Given the description of an element on the screen output the (x, y) to click on. 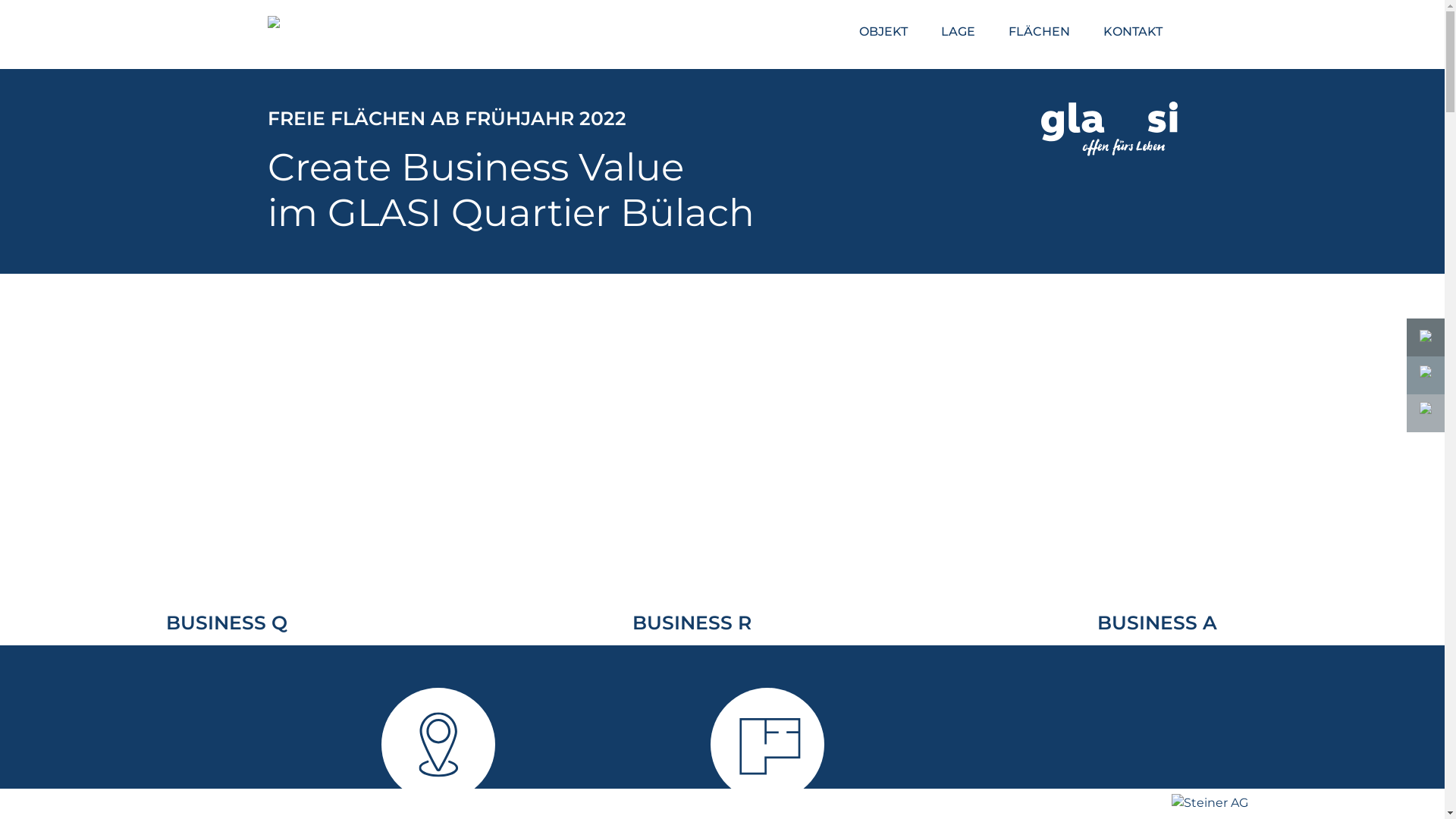
OBJEKT Element type: text (882, 31)
KONTAKT Element type: text (1131, 31)
LAGE Element type: text (957, 31)
